Given the description of an element on the screen output the (x, y) to click on. 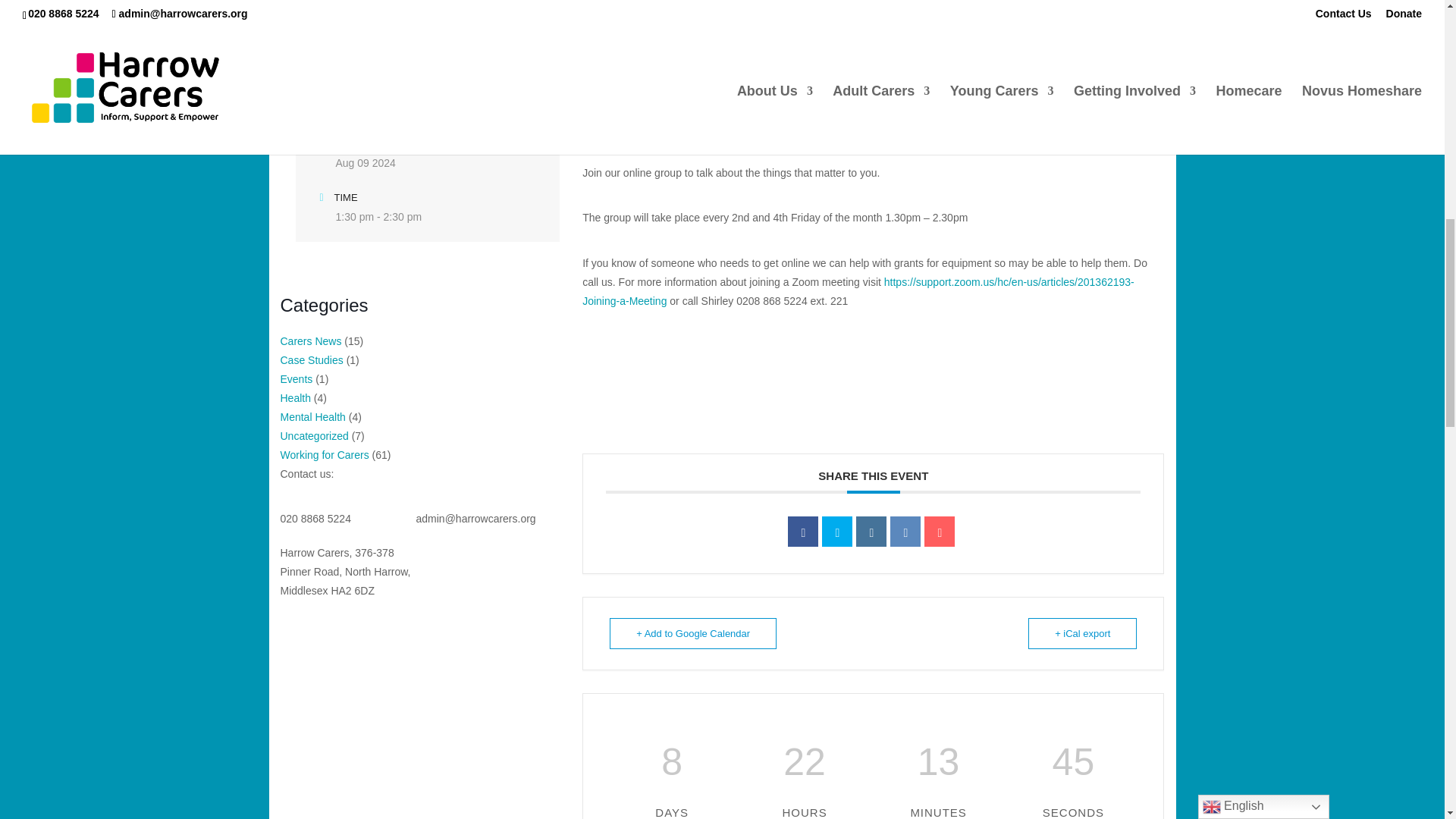
Email (939, 531)
VK (904, 531)
Linkedin (871, 531)
Tweet (836, 531)
Share on Facebook (802, 531)
